Given the description of an element on the screen output the (x, y) to click on. 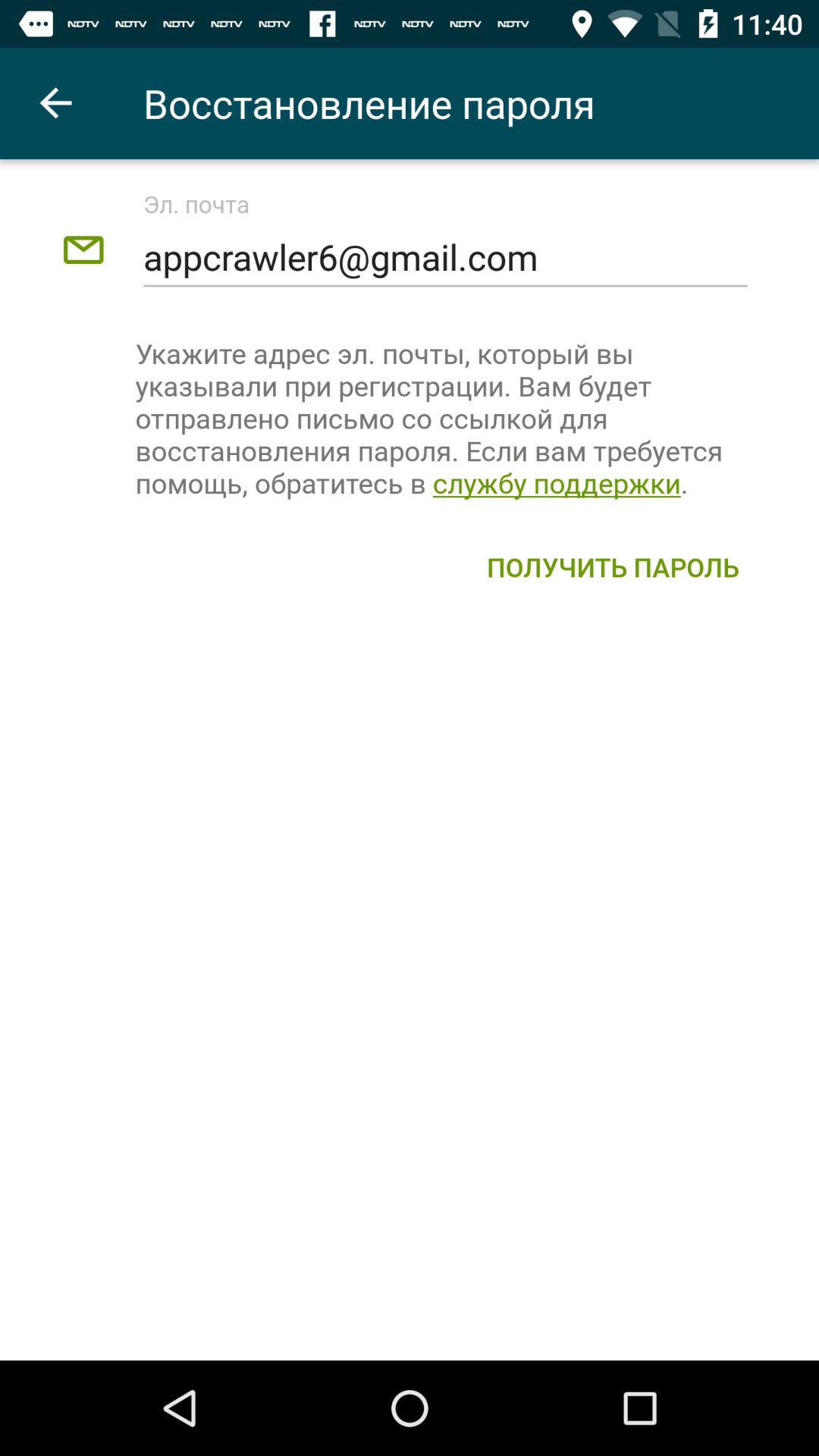
jump to the appcrawler6@gmail.com (445, 257)
